Given the description of an element on the screen output the (x, y) to click on. 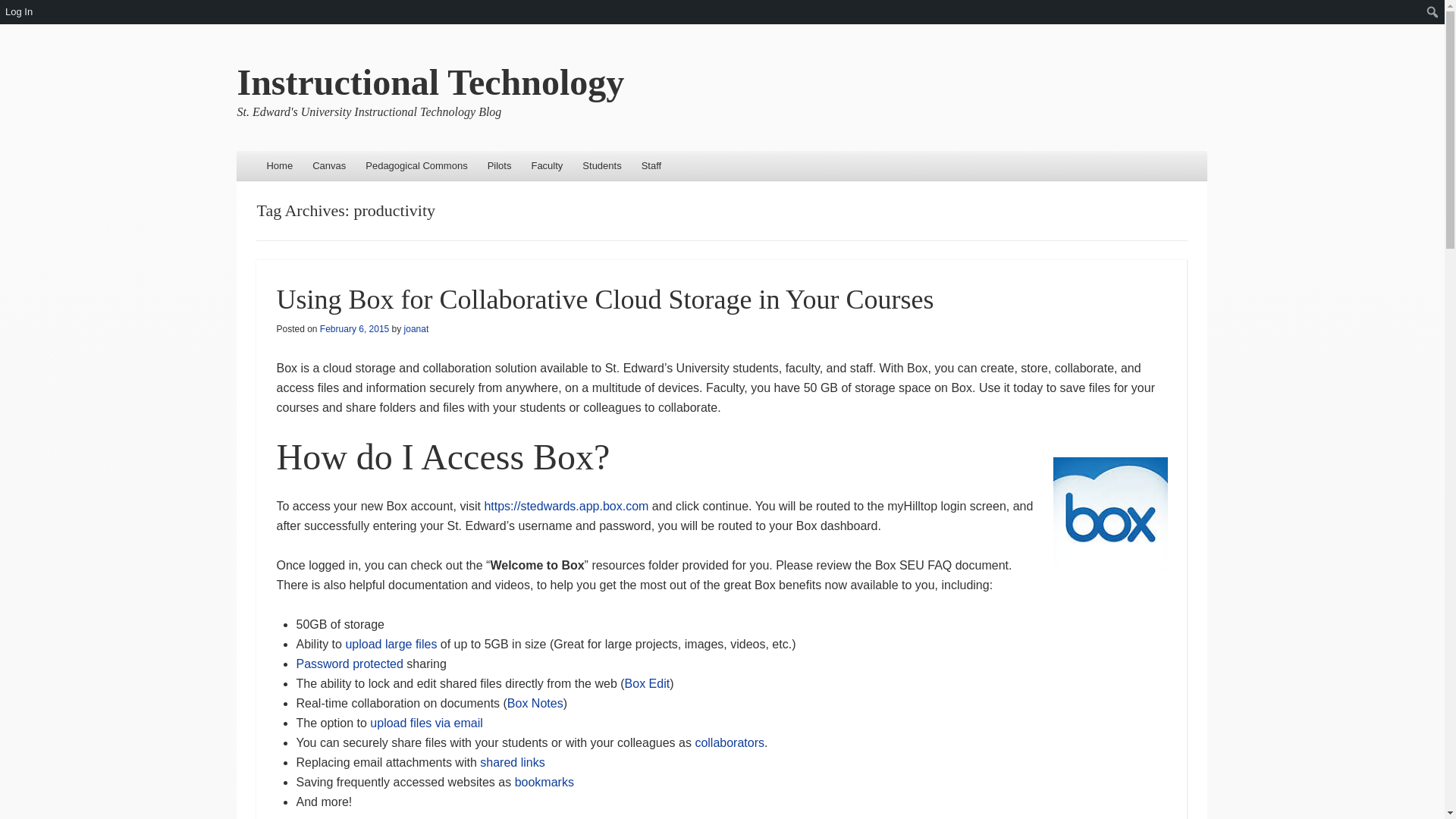
Home (279, 165)
1:08 pm (354, 328)
Students (601, 165)
Using Box for Collaborative Cloud Storage in Your Courses (604, 299)
Box Notes (534, 703)
Skip to content (278, 165)
joanat (416, 328)
Instructional Technology (429, 82)
View all posts by joanat (416, 328)
February 6, 2015 (354, 328)
Staff (651, 165)
hared links (515, 762)
collaborators (729, 742)
Faculty (546, 165)
Instructional Technology (429, 82)
